Given the description of an element on the screen output the (x, y) to click on. 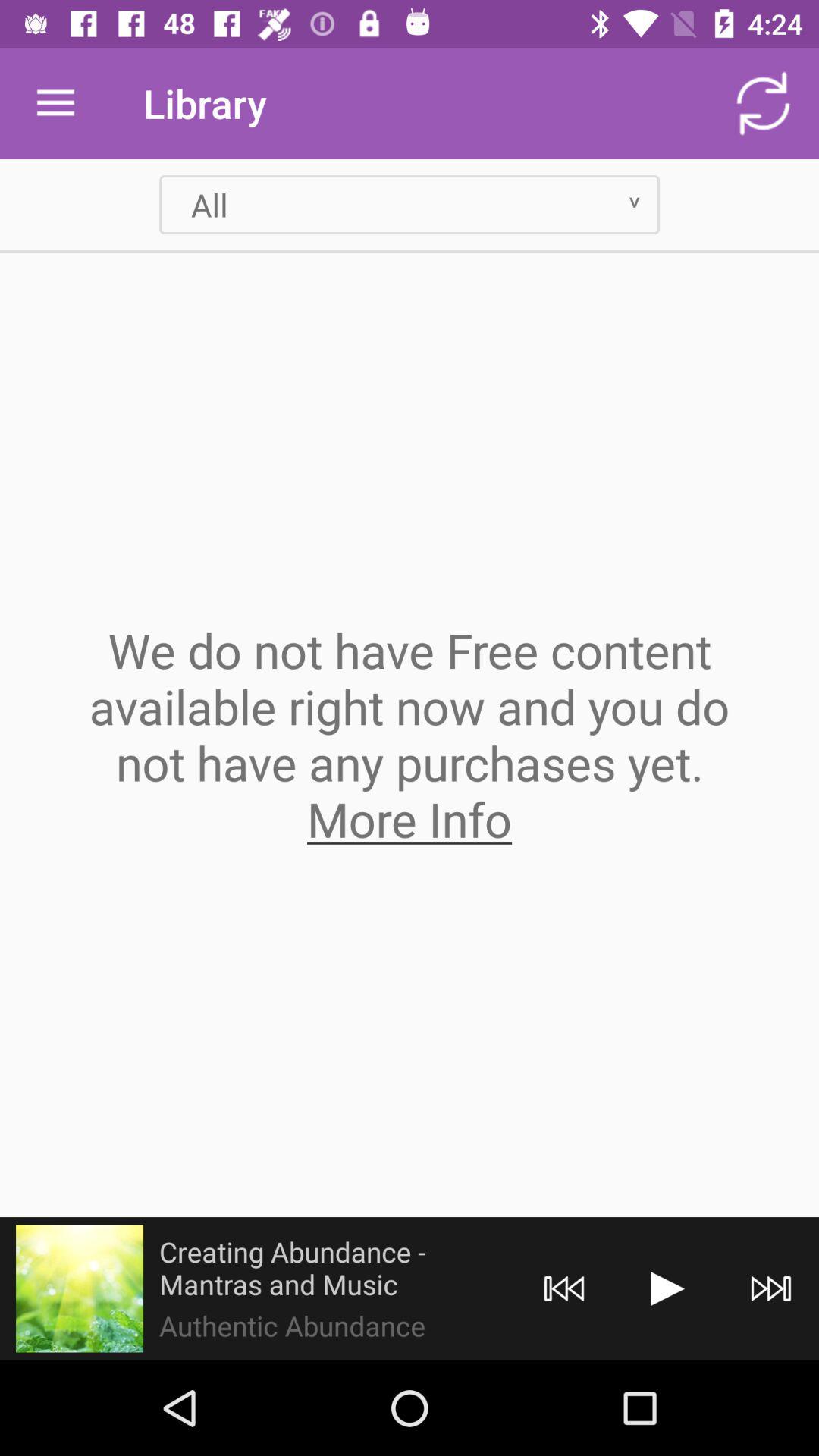
choose the item at the center (409, 734)
